Given the description of an element on the screen output the (x, y) to click on. 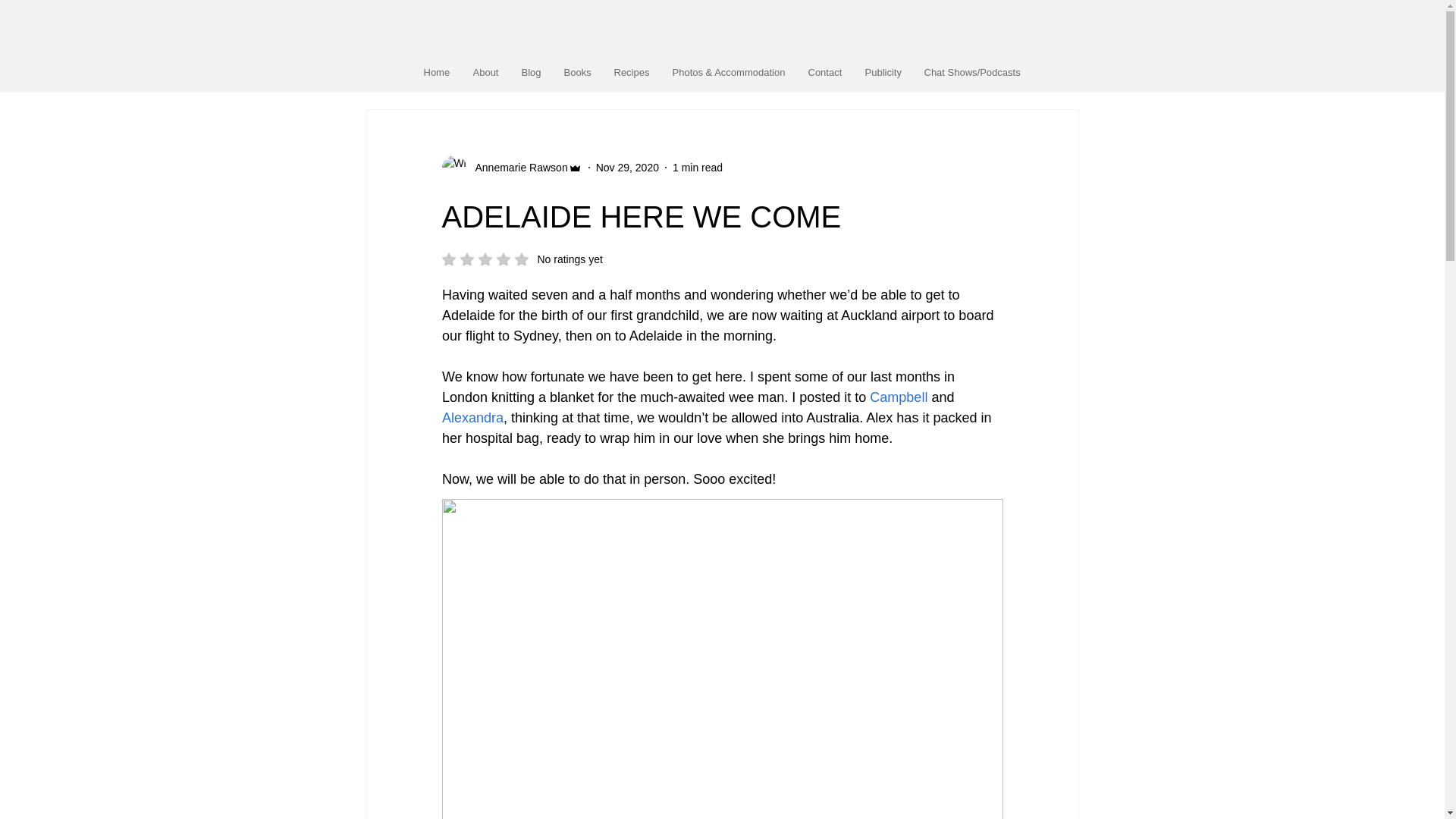
1 min read (697, 166)
Contact (824, 72)
Campbell (898, 396)
Nov 29, 2020 (627, 166)
Publicity (882, 72)
Blog (530, 72)
Annemarie Rawson (516, 166)
About (485, 72)
Alexandra (471, 417)
